Given the description of an element on the screen output the (x, y) to click on. 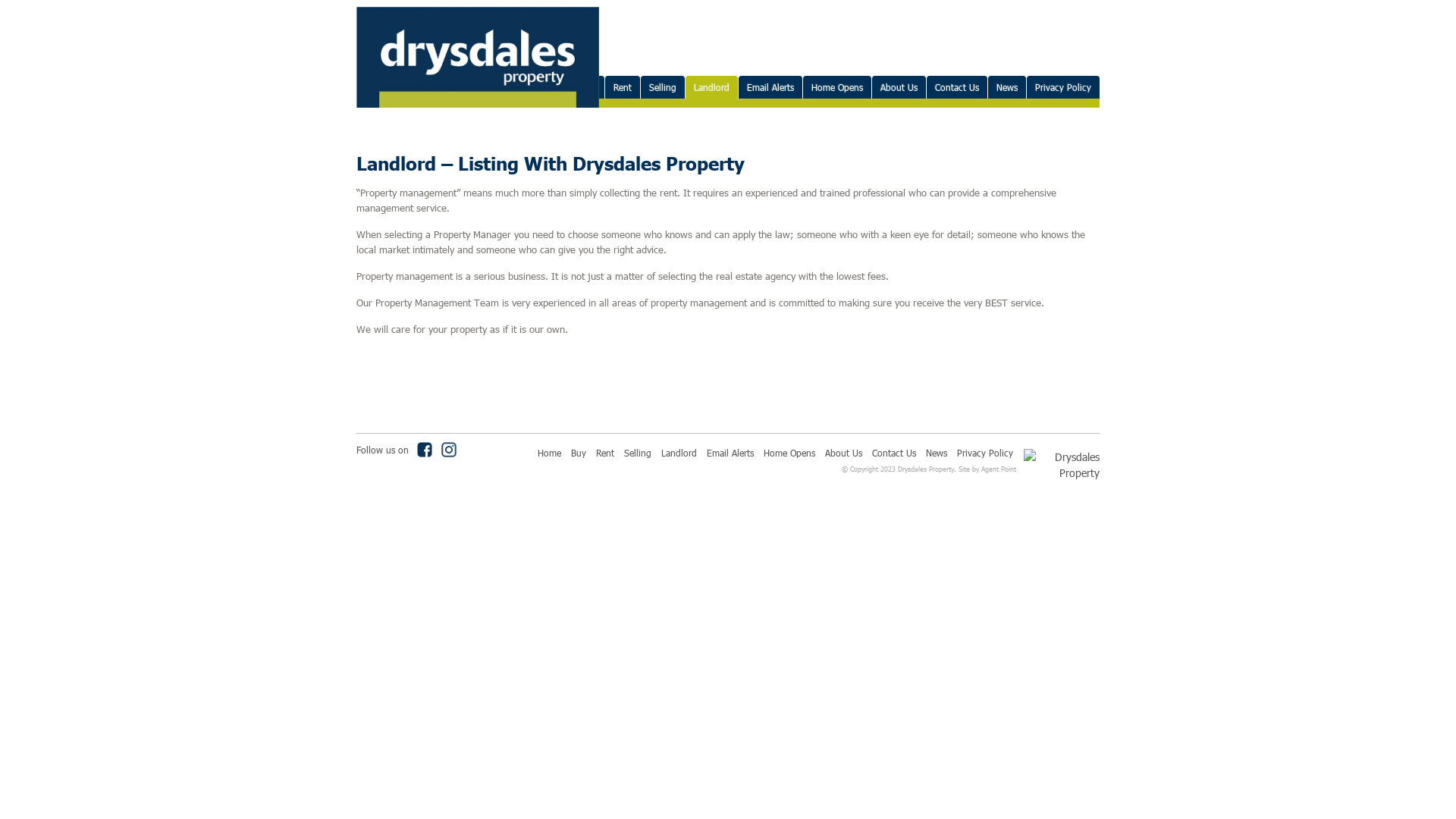
About Us Element type: text (843, 452)
Rent Element type: text (622, 86)
Rent Element type: text (605, 452)
Email Alerts Element type: text (770, 86)
Email Alerts Element type: text (729, 452)
Selling Element type: text (662, 86)
Contact Us Element type: text (894, 452)
Landlord Element type: text (678, 452)
News Element type: text (936, 452)
Buy Element type: text (588, 86)
Home Element type: text (549, 452)
Selling Element type: text (637, 452)
Contact Us Element type: text (956, 86)
Landlord Element type: text (711, 86)
News Element type: text (1007, 86)
Home Opens Element type: text (837, 86)
About Us Element type: text (898, 86)
Home Opens Element type: text (789, 452)
Home Element type: text (551, 86)
Privacy Policy Element type: text (984, 452)
Agent Point Element type: text (998, 468)
Privacy Policy Element type: text (1062, 86)
Buy Element type: text (578, 452)
